Given the description of an element on the screen output the (x, y) to click on. 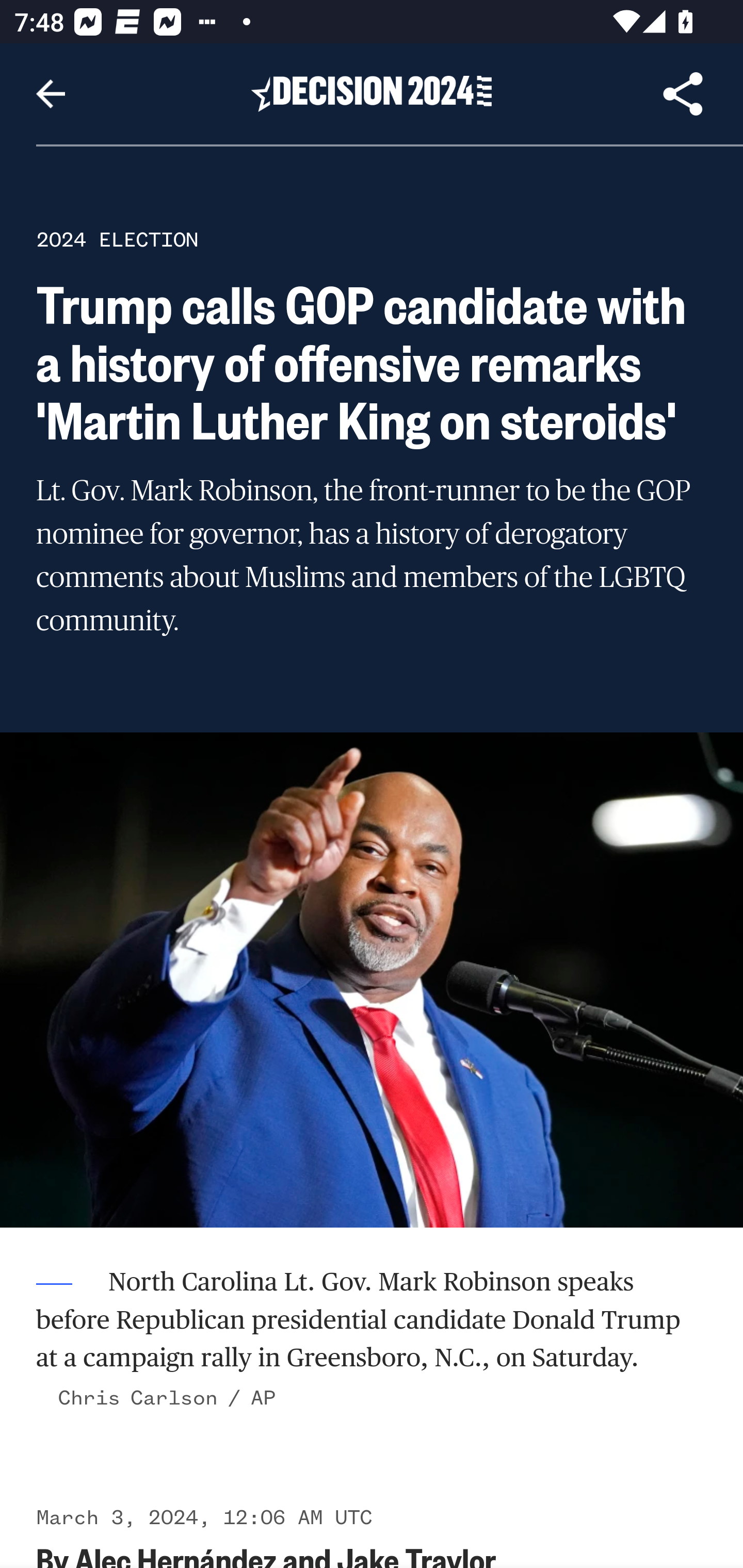
Navigate up (50, 93)
Share Article, button (683, 94)
Header, Decision 2024 (371, 93)
2024 ELECTION (117, 239)
